Given the description of an element on the screen output the (x, y) to click on. 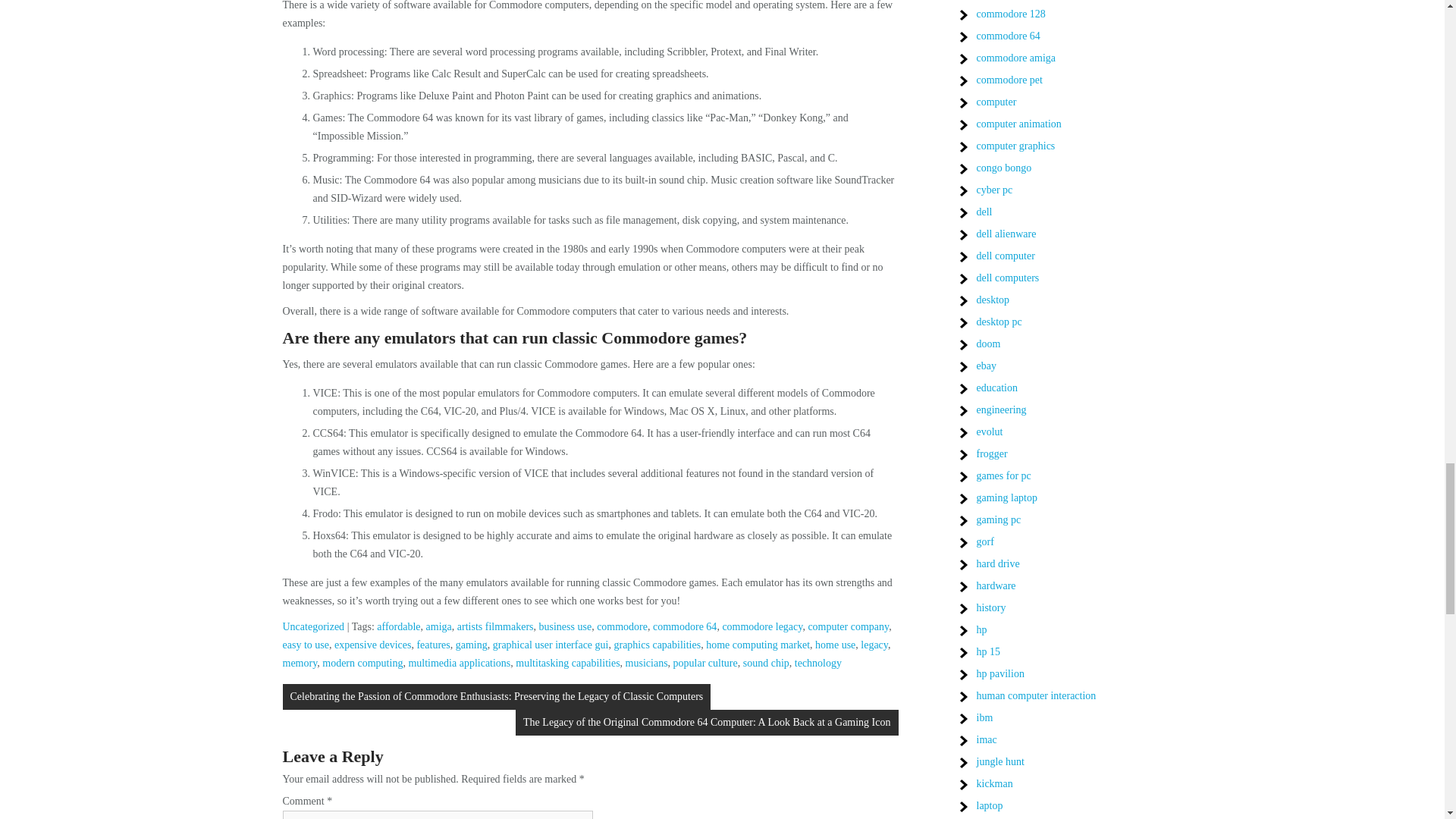
memory (299, 663)
affordable (398, 626)
home computing market (757, 644)
computer company (848, 626)
technology (817, 663)
Uncategorized (312, 626)
expensive devices (372, 644)
commodore legacy (762, 626)
musicians (647, 663)
artists filmmakers (495, 626)
